Given the description of an element on the screen output the (x, y) to click on. 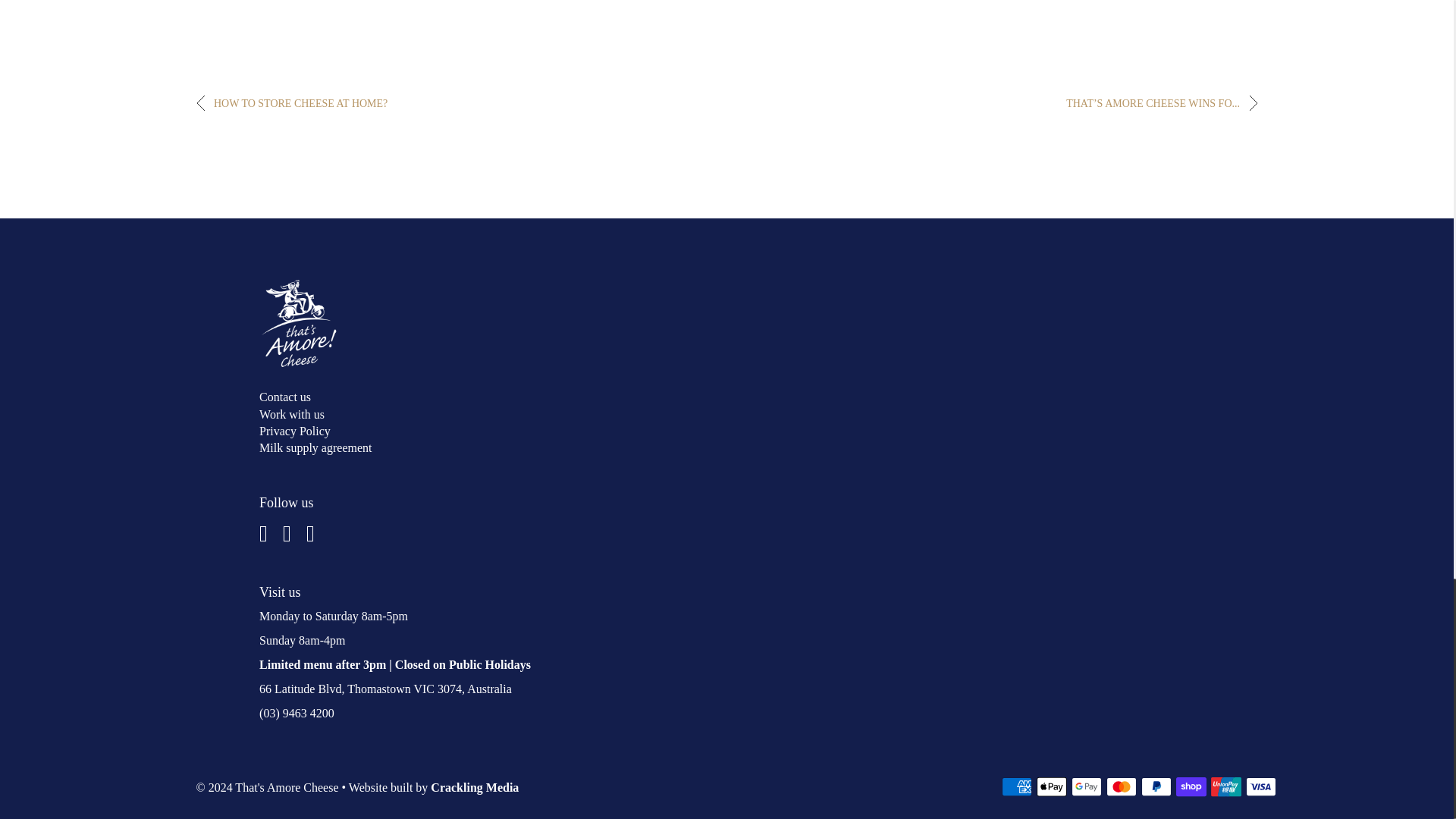
Mastercard (1121, 786)
PayPal (1156, 786)
Union Pay (1226, 786)
American Express (1016, 786)
Google Pay (1086, 786)
Visa (1261, 786)
Shop Pay (1191, 786)
tel:0394634200 (296, 712)
Apple Pay (1051, 786)
